Given the description of an element on the screen output the (x, y) to click on. 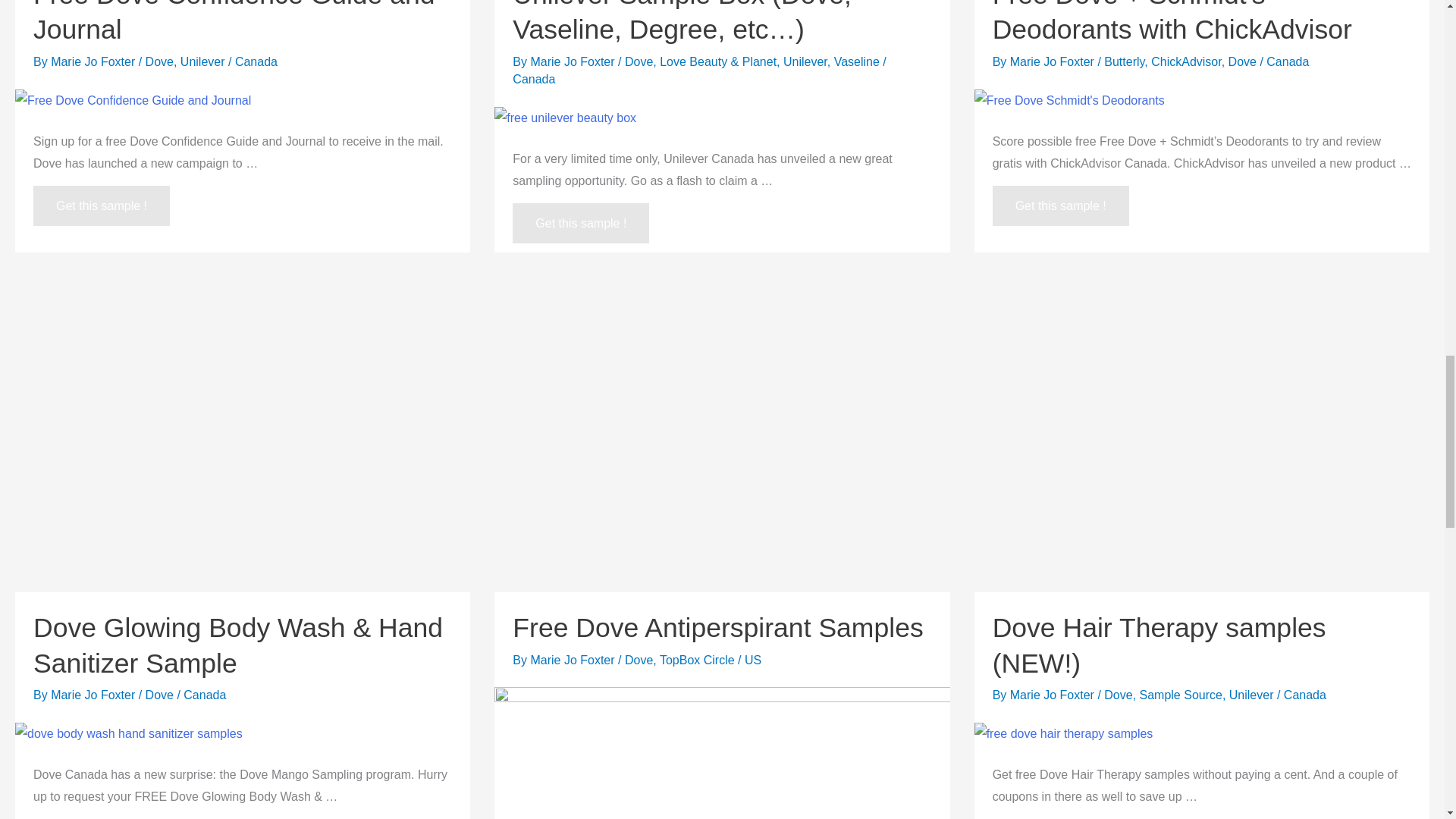
View all posts by Marie Jo Foxter (1053, 61)
View all posts by Marie Jo Foxter (94, 694)
View all posts by Marie Jo Foxter (94, 61)
View all posts by Marie Jo Foxter (573, 659)
View all posts by Marie Jo Foxter (573, 61)
View all posts by Marie Jo Foxter (1053, 694)
